Given the description of an element on the screen output the (x, y) to click on. 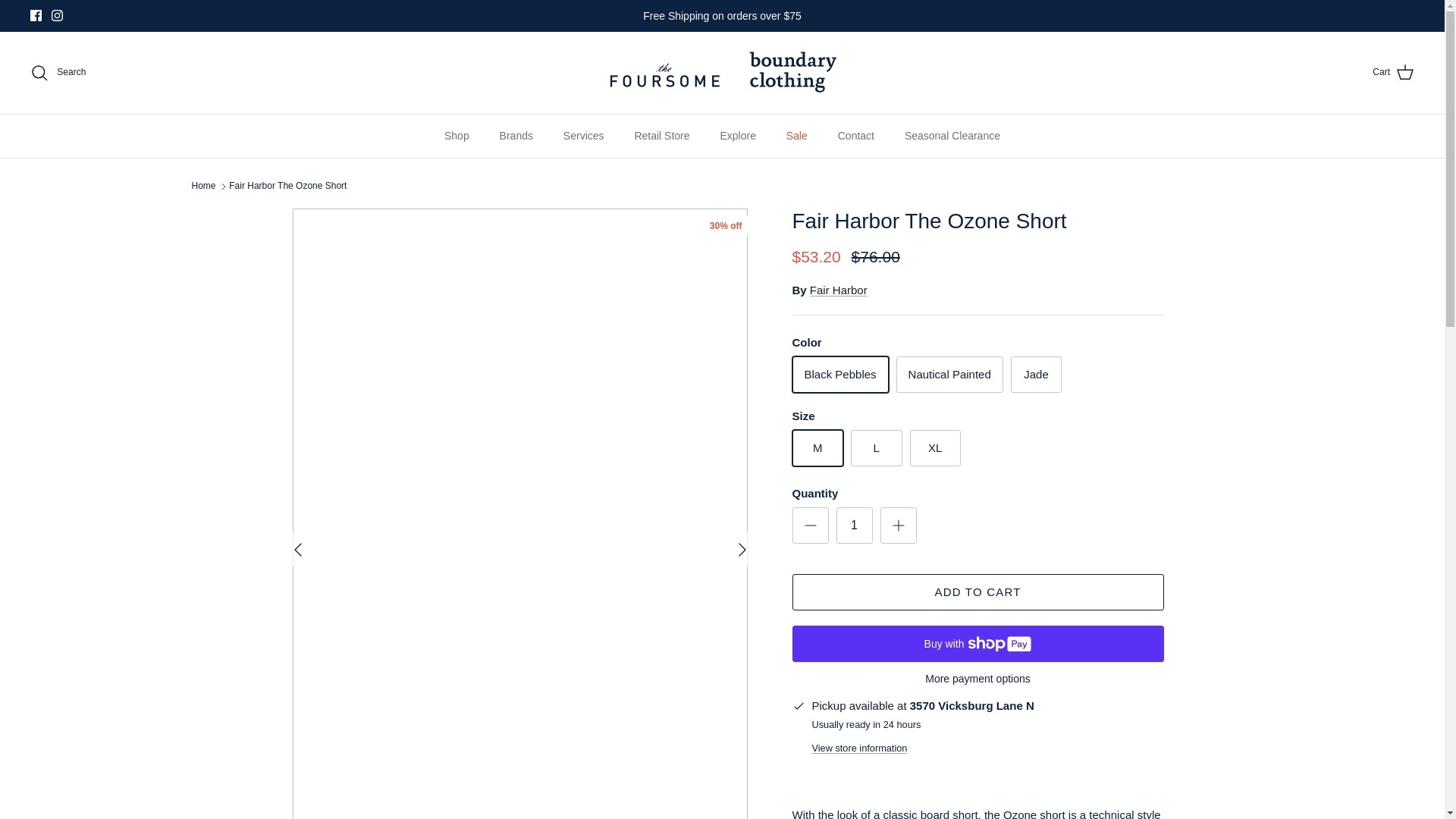
Cart (1393, 72)
Facebook (36, 15)
Instagram (56, 15)
Instagram (56, 15)
Plus (897, 525)
Search (57, 72)
Shop (456, 136)
Facebook (36, 15)
Minus (809, 525)
RIGHT (741, 549)
1 (853, 524)
LEFT (296, 549)
